Given the description of an element on the screen output the (x, y) to click on. 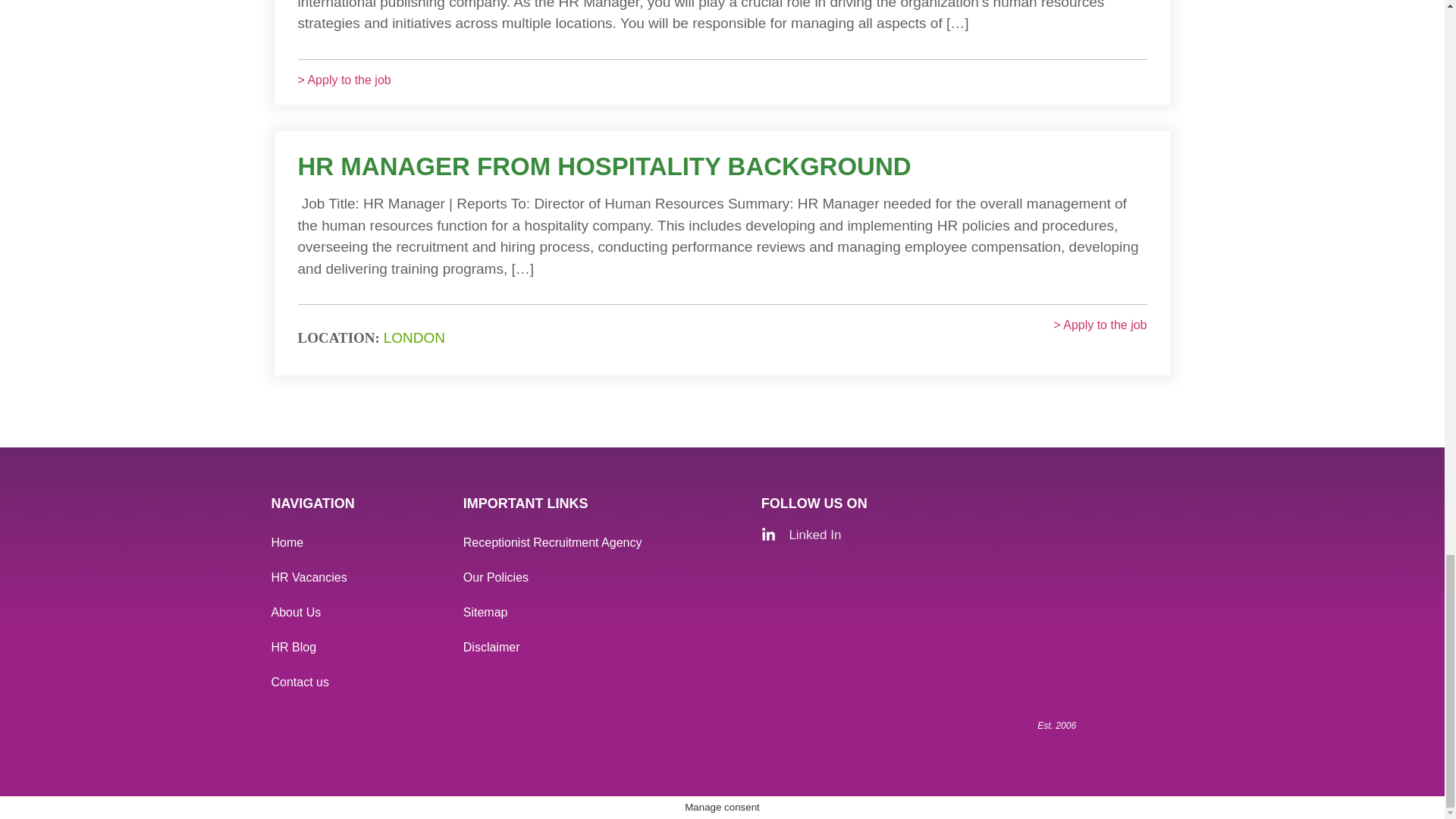
Disclaimer (604, 647)
HR MANAGER FROM HOSPITALITY BACKGROUND (604, 166)
HR Manager from Hospitality Background (604, 166)
Contact us (359, 682)
HR Blog (359, 647)
Our Policies (604, 577)
HR Vacancies (359, 577)
Home (359, 542)
Sitemap (604, 612)
HR Manager from Hospitality Background (1099, 338)
